Given the description of an element on the screen output the (x, y) to click on. 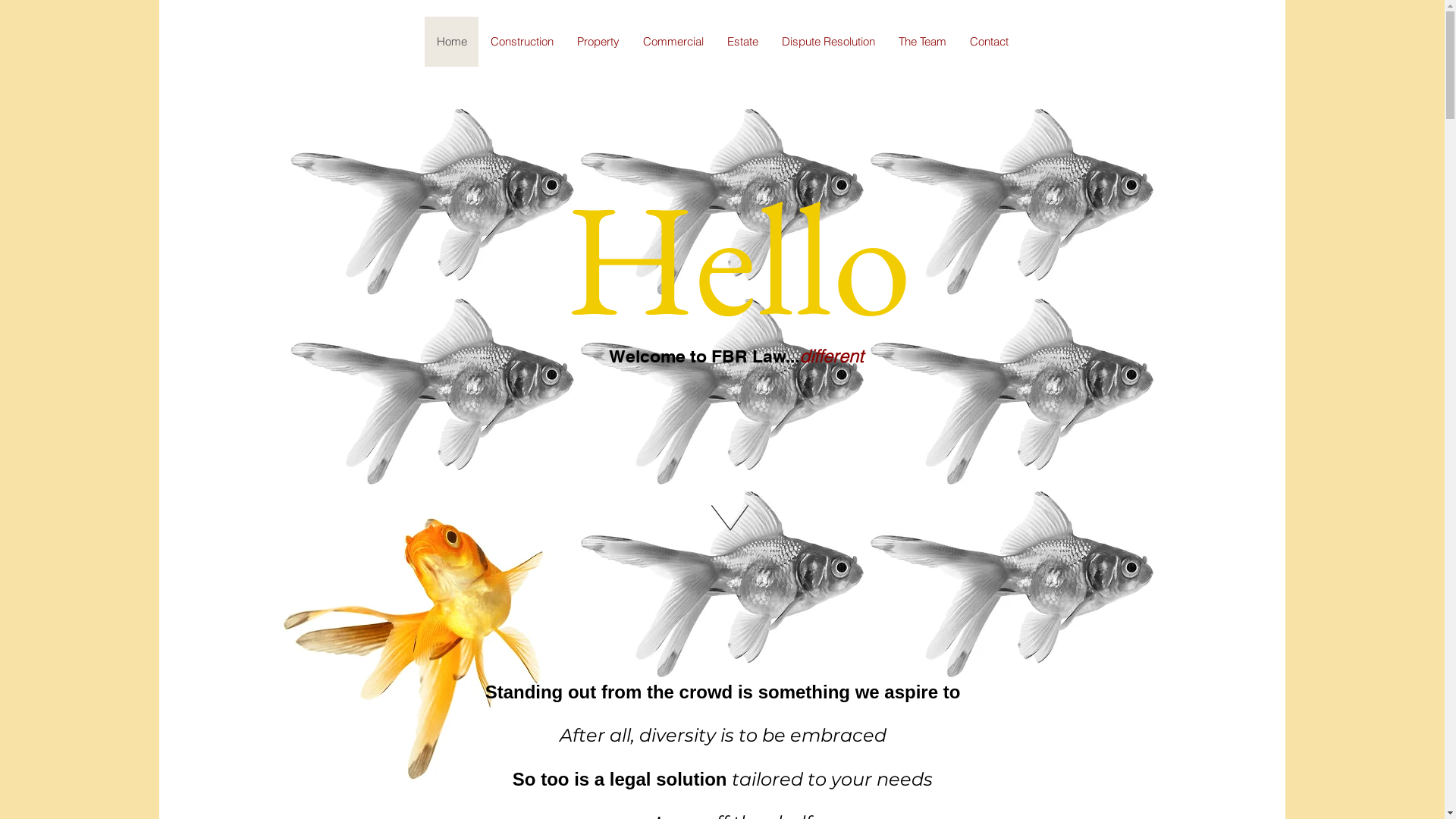
Property Element type: text (597, 41)
Home Element type: text (451, 41)
Dispute Resolution Element type: text (826, 41)
Commercial Element type: text (672, 41)
The Team Element type: text (921, 41)
Construction Element type: text (520, 41)
Contact Element type: text (988, 41)
Estate Element type: text (741, 41)
